Given the description of an element on the screen output the (x, y) to click on. 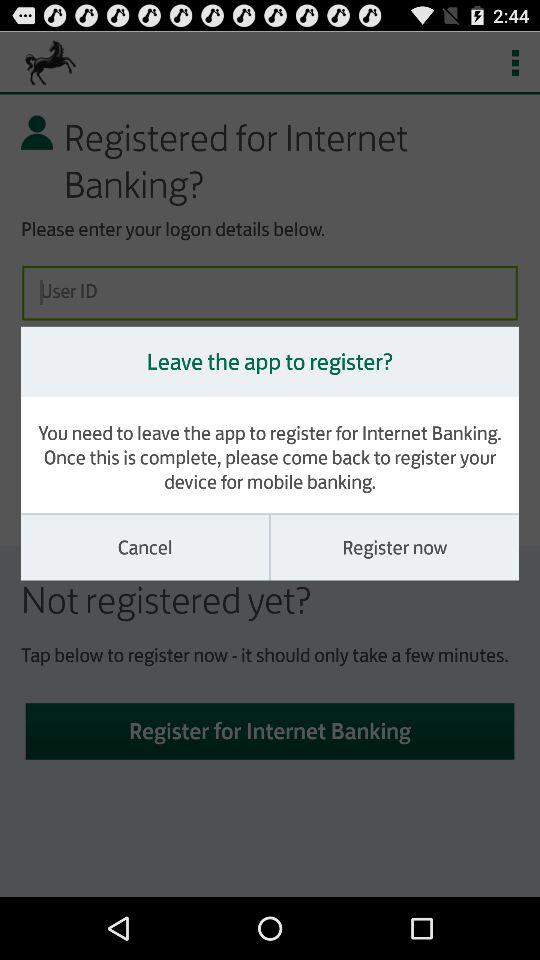
jump until the register now (394, 547)
